Given the description of an element on the screen output the (x, y) to click on. 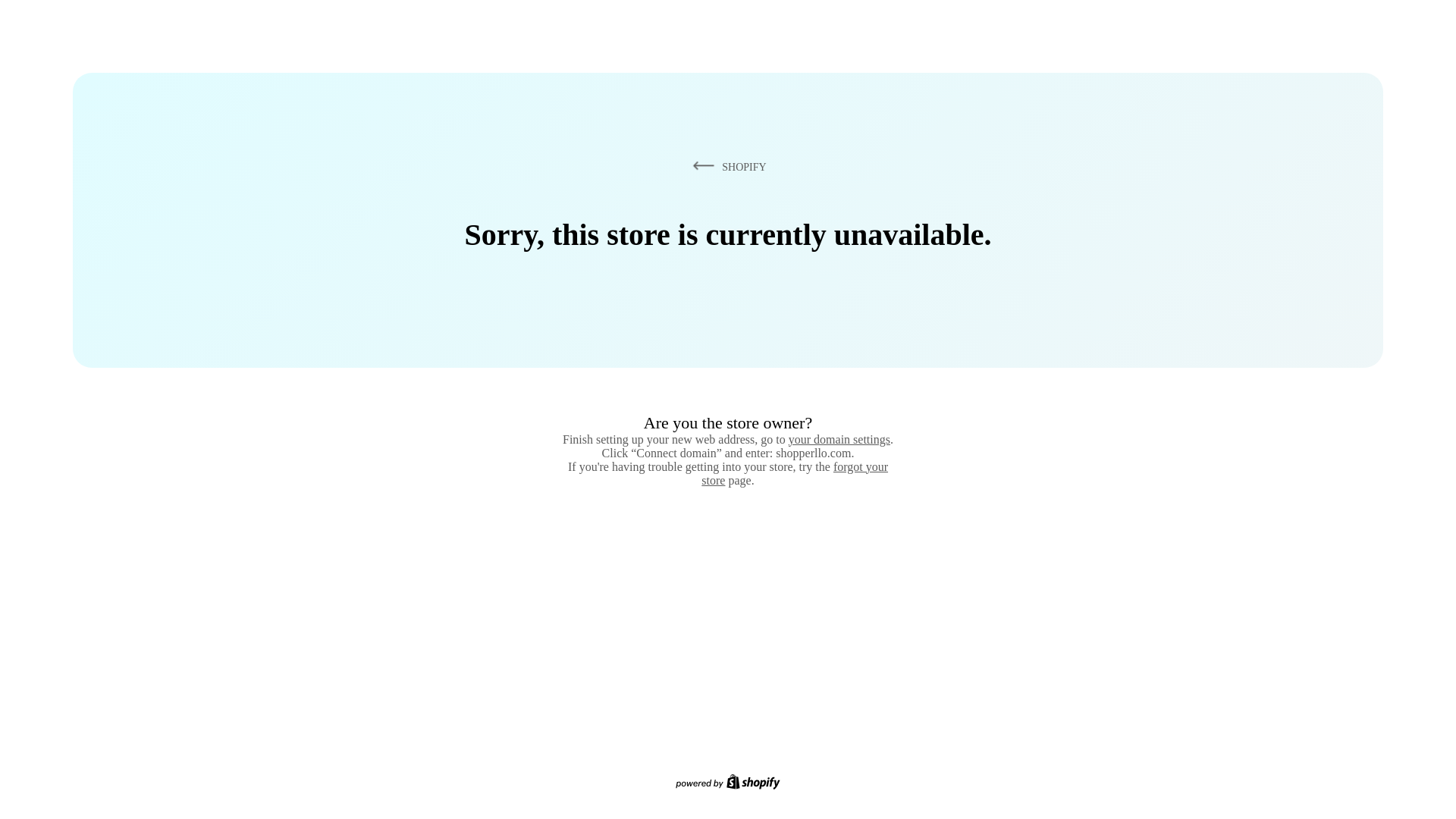
forgot your store (794, 473)
SHOPIFY (726, 166)
your domain settings (839, 439)
